Given the description of an element on the screen output the (x, y) to click on. 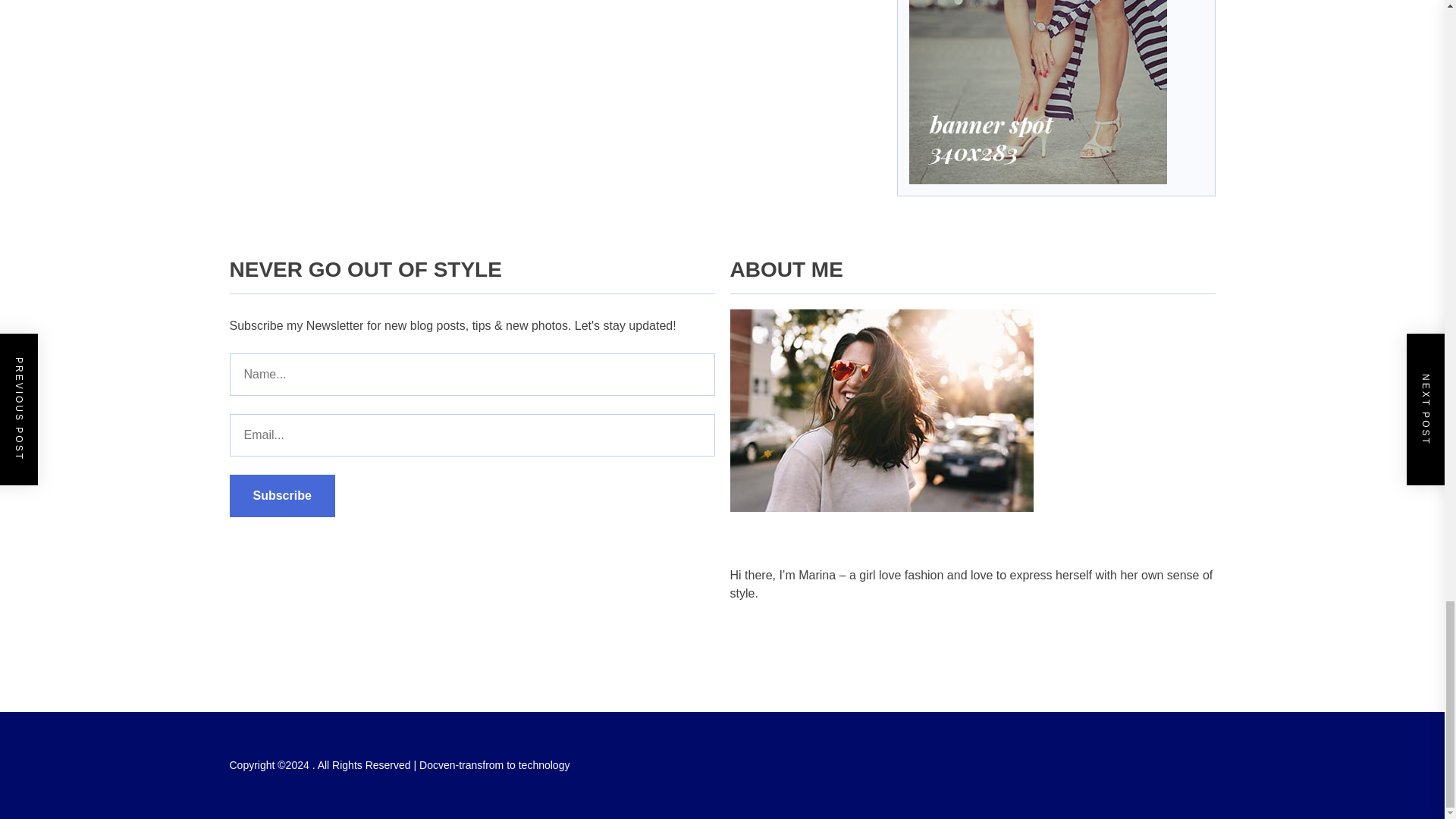
Subscribe (281, 495)
